Given the description of an element on the screen output the (x, y) to click on. 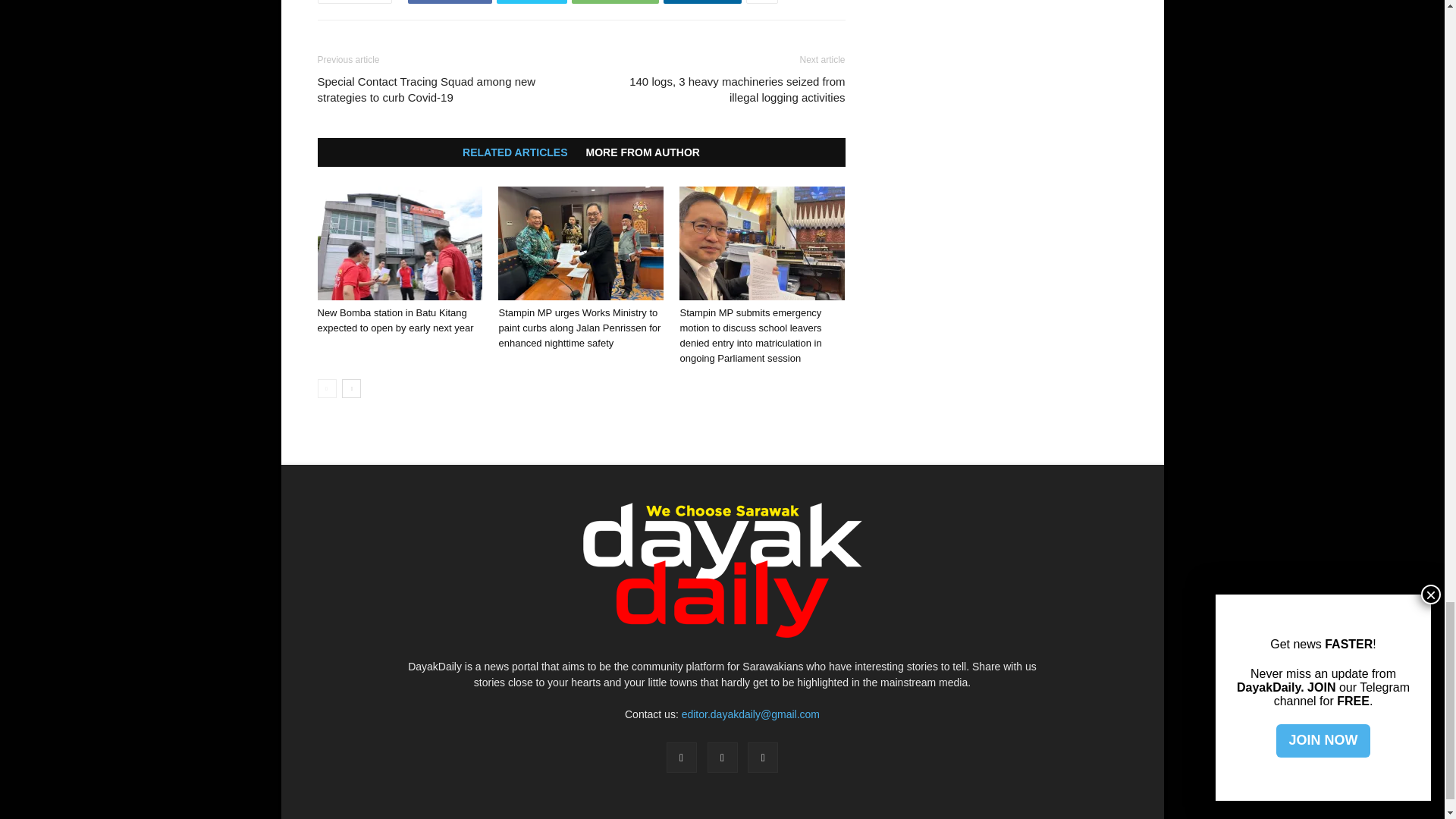
Twitter (531, 2)
WhatsApp (615, 2)
Facebook (449, 2)
Linkedin (702, 2)
